Given the description of an element on the screen output the (x, y) to click on. 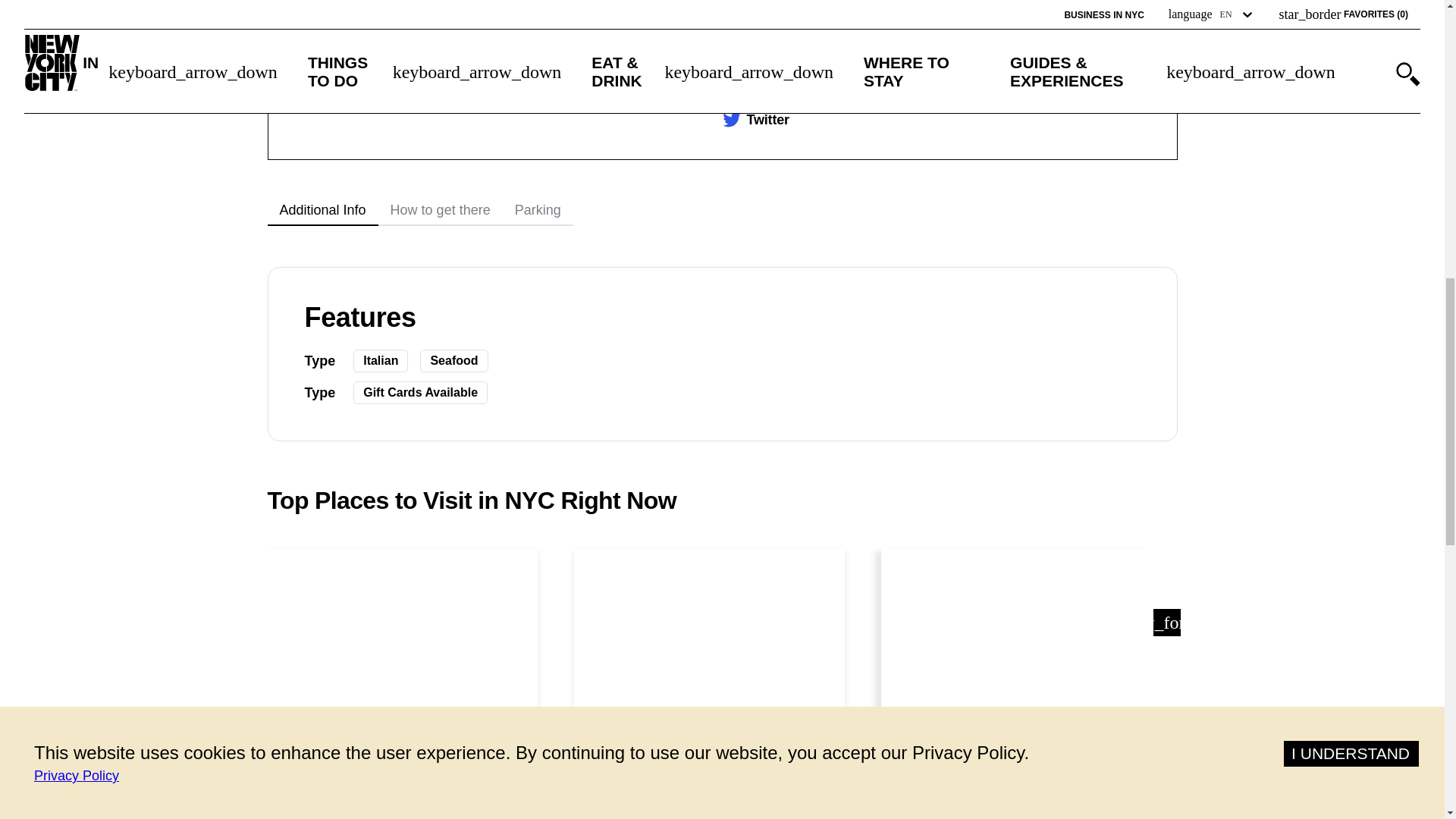
Facebook (777, 34)
Queens Night Market (709, 804)
How to get there (440, 211)
Coney Island (402, 804)
Historic Richmond Town (1016, 805)
Twitter (767, 119)
Parking (537, 211)
Additional Info (321, 211)
